Given the description of an element on the screen output the (x, y) to click on. 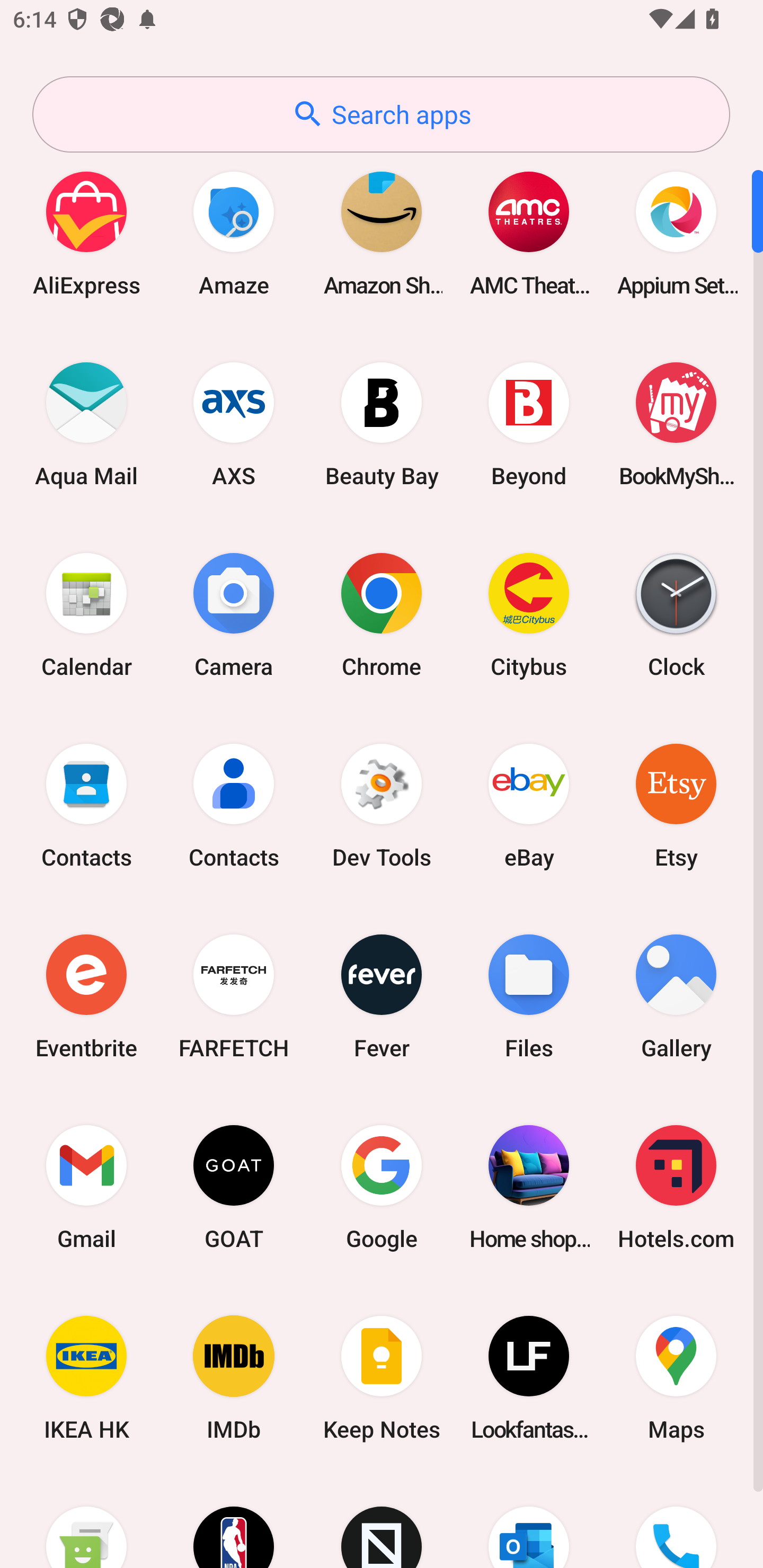
  Search apps (381, 114)
AliExpress (86, 233)
Amaze (233, 233)
Amazon Shopping (381, 233)
AMC Theatres (528, 233)
Appium Settings (676, 233)
Aqua Mail (86, 424)
AXS (233, 424)
Beauty Bay (381, 424)
Beyond (528, 424)
BookMyShow (676, 424)
Calendar (86, 614)
Camera (233, 614)
Chrome (381, 614)
Citybus (528, 614)
Clock (676, 614)
Contacts (86, 805)
Contacts (233, 805)
Dev Tools (381, 805)
eBay (528, 805)
Etsy (676, 805)
Eventbrite (86, 996)
FARFETCH (233, 996)
Fever (381, 996)
Files (528, 996)
Gallery (676, 996)
Gmail (86, 1186)
GOAT (233, 1186)
Google (381, 1186)
Home shopping (528, 1186)
Hotels.com (676, 1186)
IKEA HK (86, 1377)
IMDb (233, 1377)
Keep Notes (381, 1377)
Lookfantastic (528, 1377)
Maps (676, 1377)
